Given the description of an element on the screen output the (x, y) to click on. 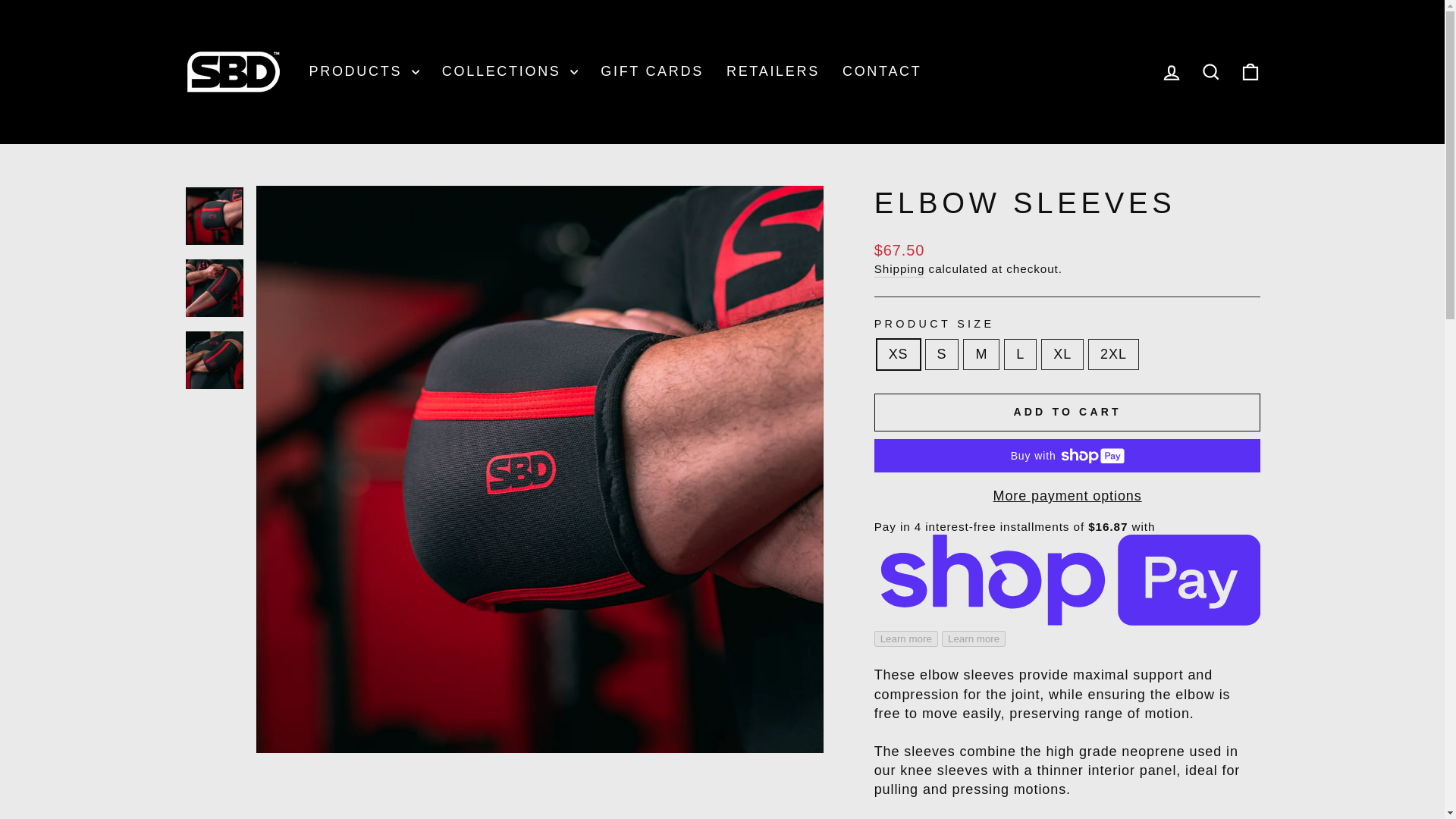
ICON-SEARCH (1210, 71)
ACCOUNT (1170, 72)
ICON-BAG-MINIMAL (1249, 71)
